Given the description of an element on the screen output the (x, y) to click on. 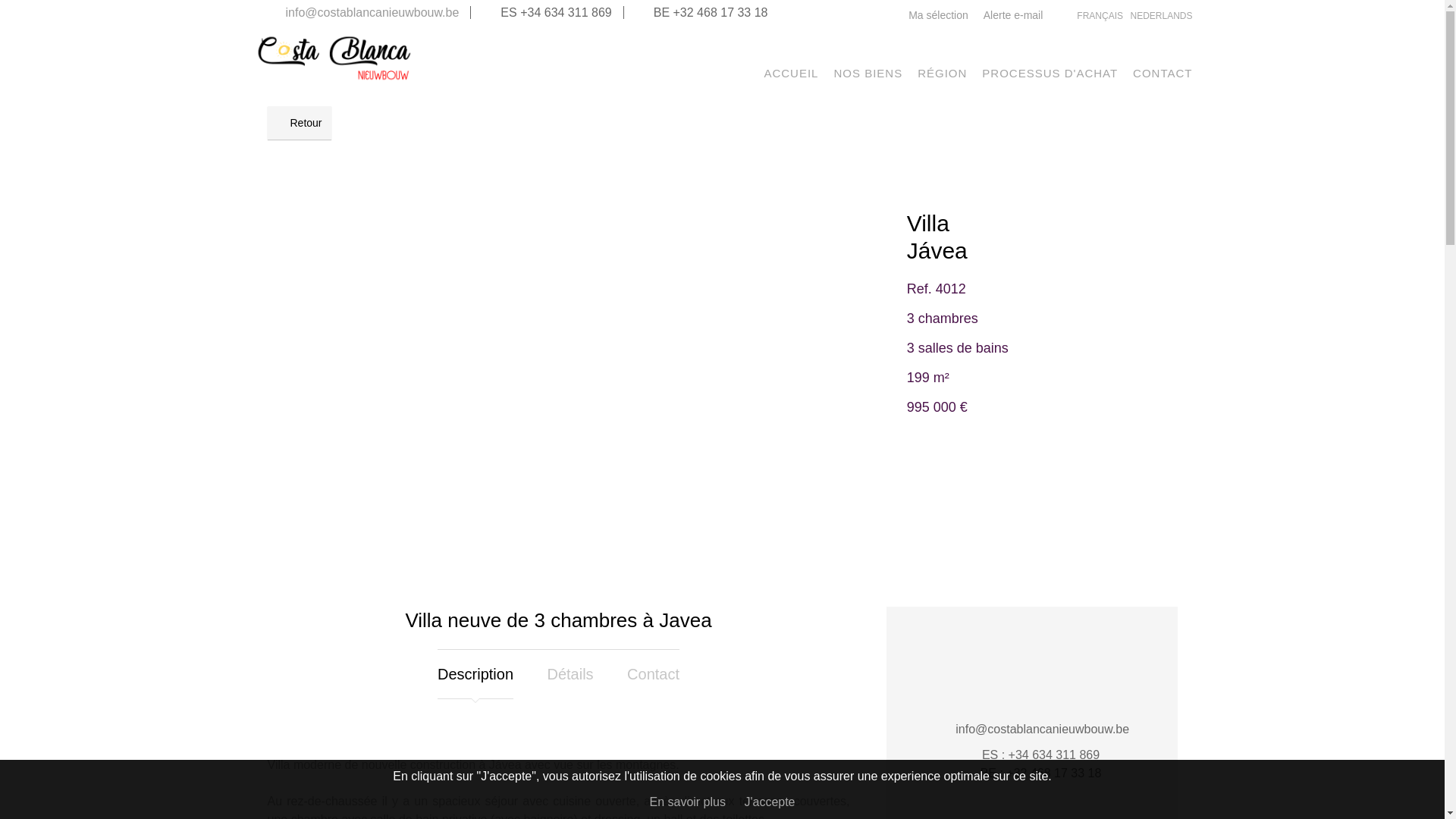
CONTACT Element type: text (1162, 73)
+34 634 311 869 Element type: text (565, 12)
Retour Element type: text (298, 122)
NOS BIENS Element type: text (867, 73)
info@costablancanieuwbouw.be Element type: text (371, 12)
Alerte e-mail Element type: text (1013, 15)
LT Property - Costa Blanca Element type: hover (332, 78)
J'accepte Element type: text (768, 802)
Description Element type: text (475, 674)
+32 468 17 33 18 Element type: text (720, 12)
En savoir plus Element type: text (687, 802)
NEDERLANDS Element type: text (1160, 15)
Contact Element type: text (653, 674)
PROCESSUS D'ACHAT Element type: text (1049, 73)
ACCUEIL Element type: text (790, 73)
